Given the description of an element on the screen output the (x, y) to click on. 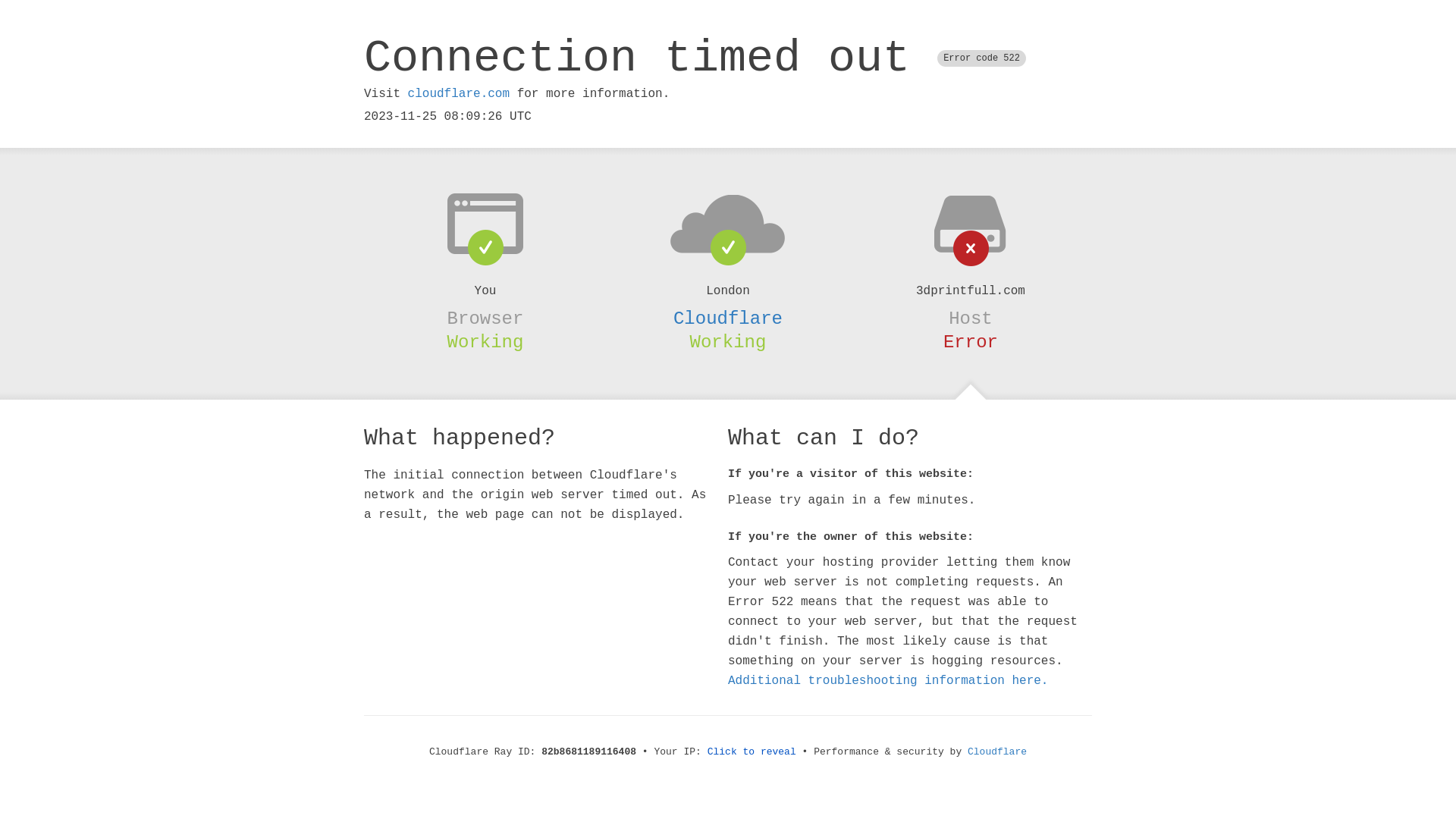
Cloudflare Element type: text (996, 751)
cloudflare.com Element type: text (458, 93)
Additional troubleshooting information here. Element type: text (888, 680)
Cloudflare Element type: text (727, 318)
Click to reveal Element type: text (751, 751)
